Given the description of an element on the screen output the (x, y) to click on. 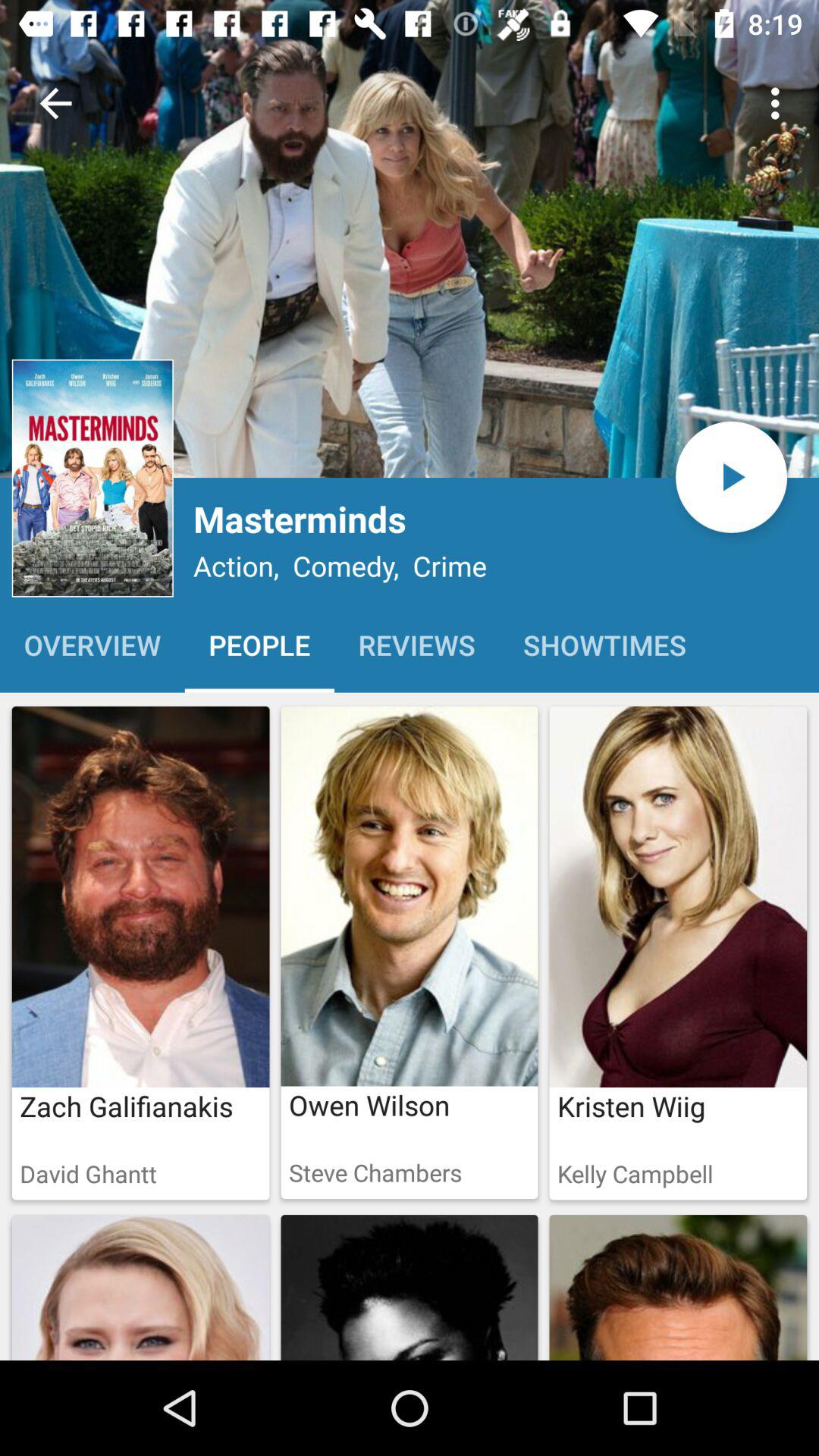
play video (731, 476)
